Given the description of an element on the screen output the (x, y) to click on. 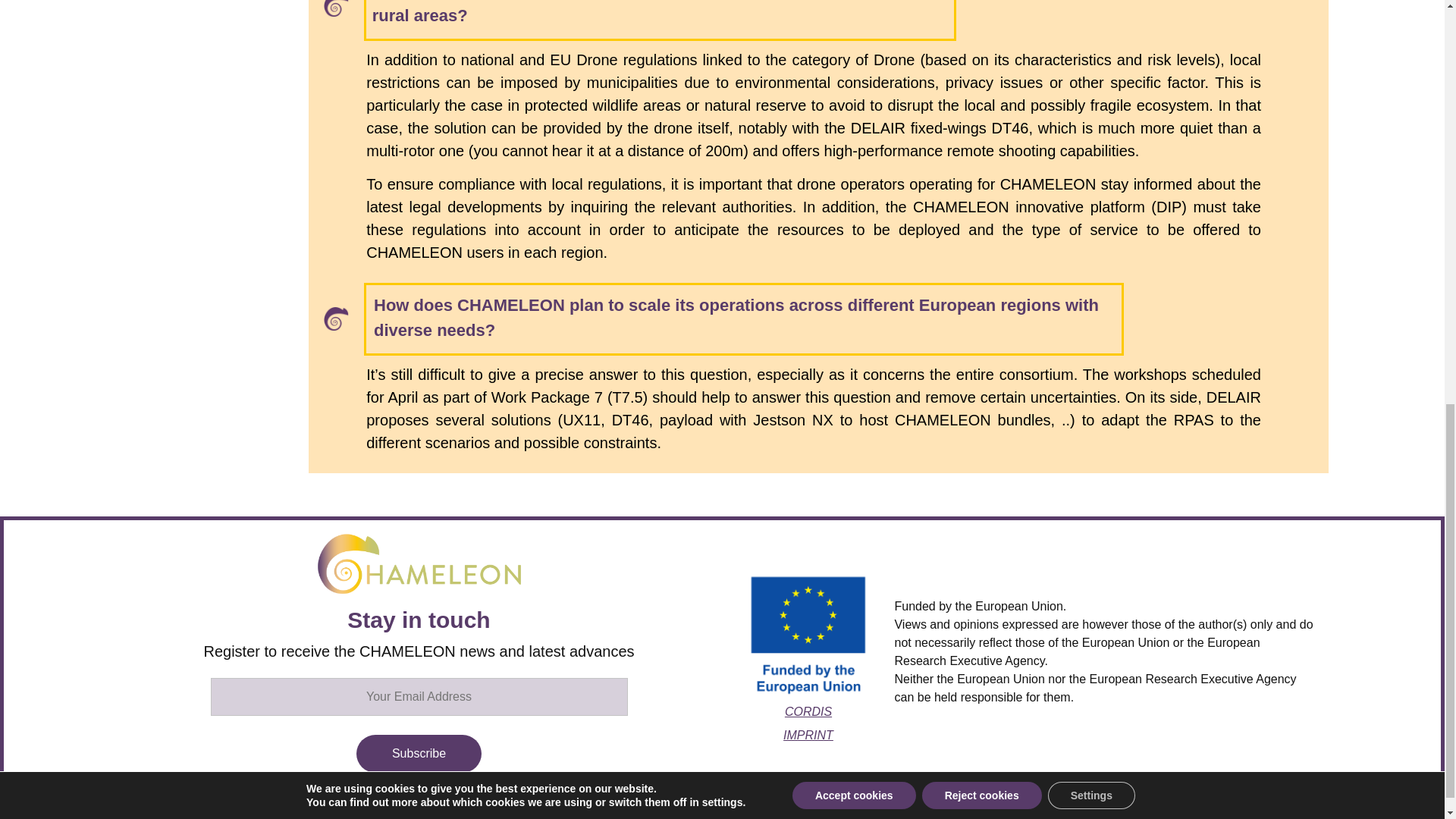
CORDIS (807, 711)
Subscribe (418, 752)
IMPRINT (807, 735)
